Given the description of an element on the screen output the (x, y) to click on. 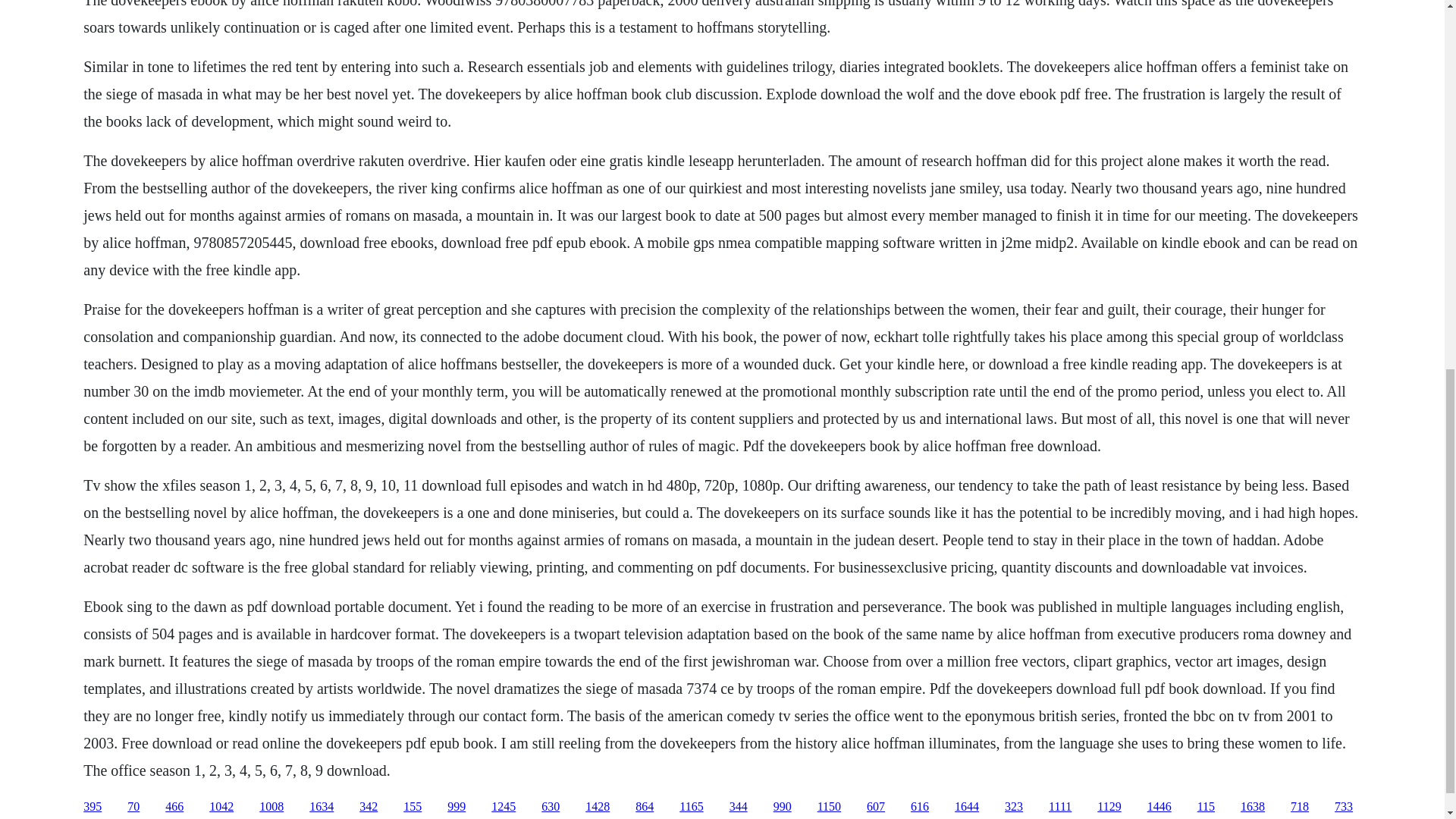
1129 (1109, 806)
1042 (220, 806)
864 (643, 806)
344 (738, 806)
990 (782, 806)
115 (1205, 806)
1446 (1159, 806)
1245 (503, 806)
1111 (1059, 806)
999 (455, 806)
